Given the description of an element on the screen output the (x, y) to click on. 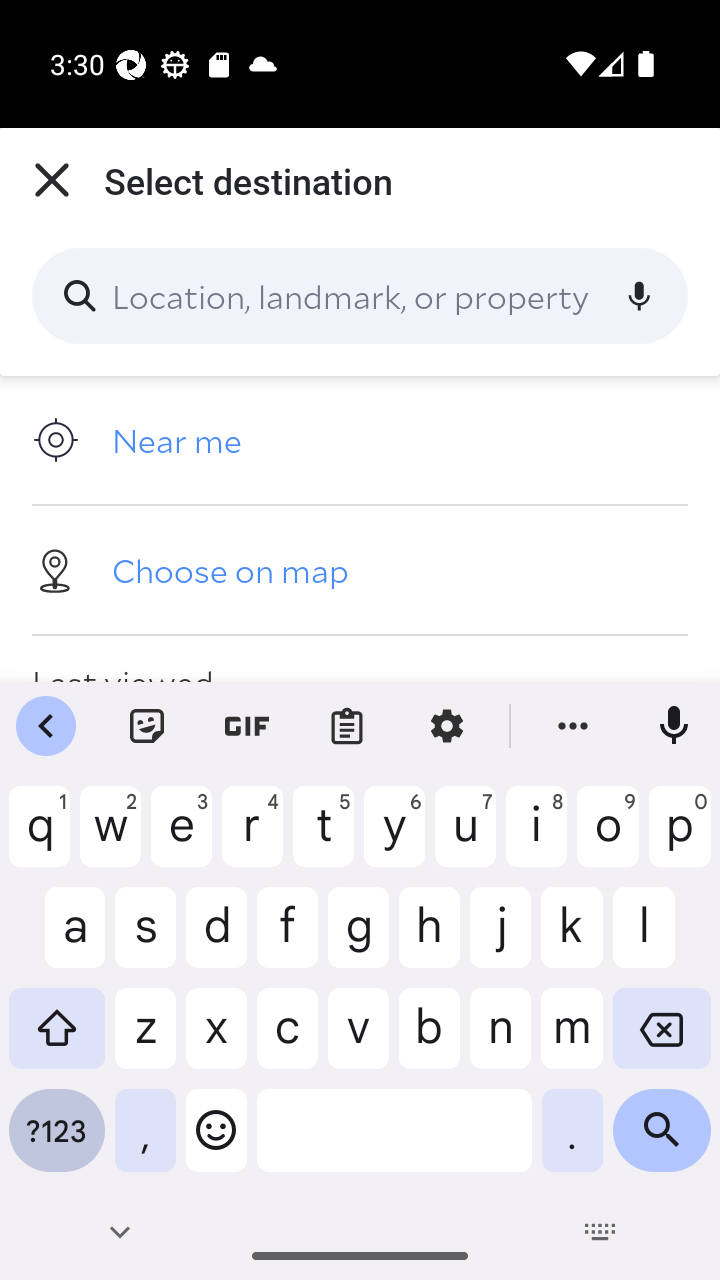
Location, landmark, or property (359, 296)
Near me (360, 440)
Choose on map (360, 569)
